Given the description of an element on the screen output the (x, y) to click on. 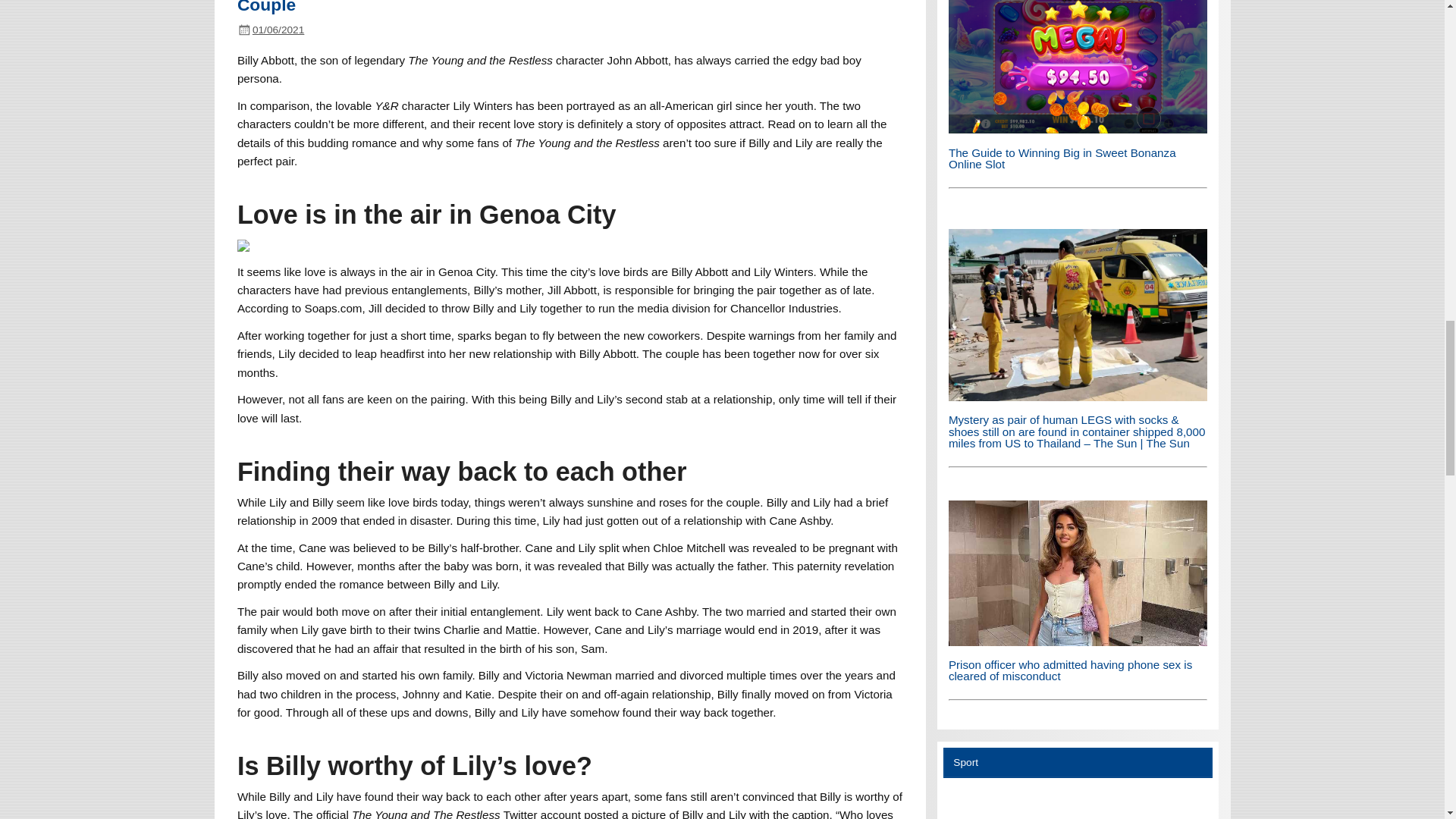
The Guide to Winning Big in Sweet Bonanza Online Slot (1078, 128)
The Guide to Winning Big in Sweet Bonanza Online Slot (1062, 158)
The Guide to Winning Big in Sweet Bonanza Online Slot (1078, 66)
16:17 (277, 30)
